Given the description of an element on the screen output the (x, y) to click on. 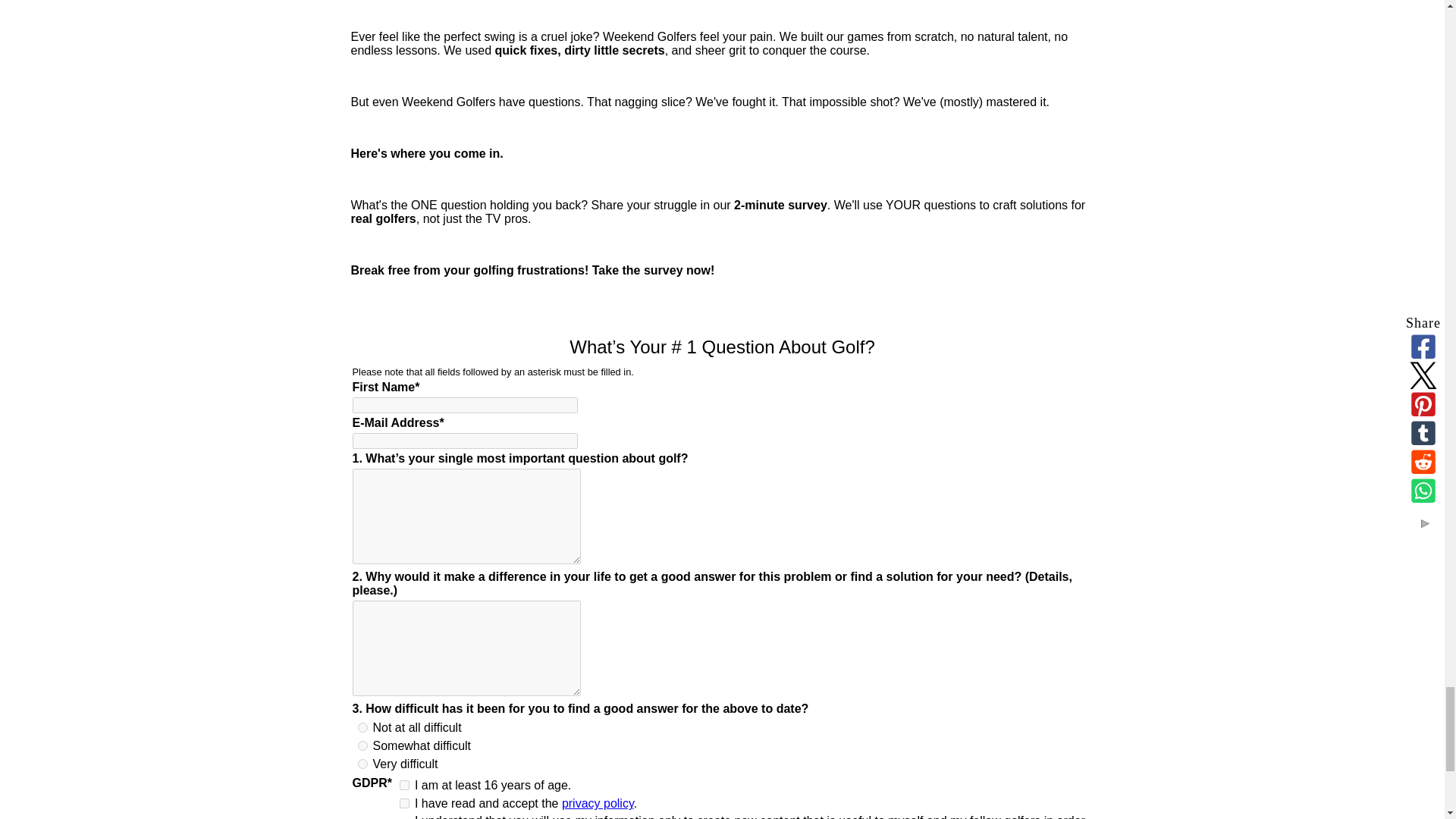
Somewhat difficult (363, 746)
Not at all difficult (363, 727)
I am at least 16 years of age. (403, 785)
Very difficult (363, 764)
